Given the description of an element on the screen output the (x, y) to click on. 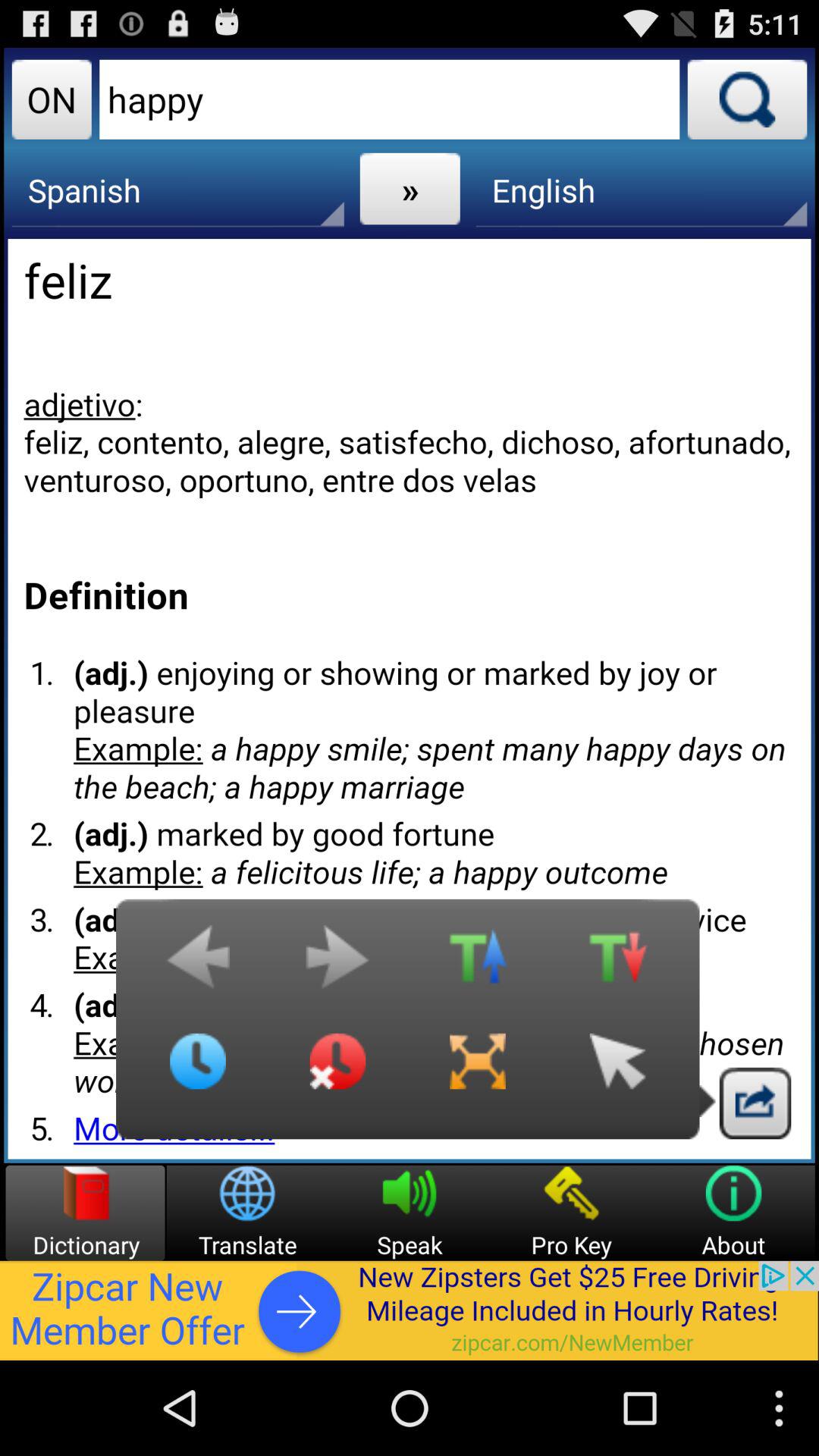
advertisement (409, 1310)
